Given the description of an element on the screen output the (x, y) to click on. 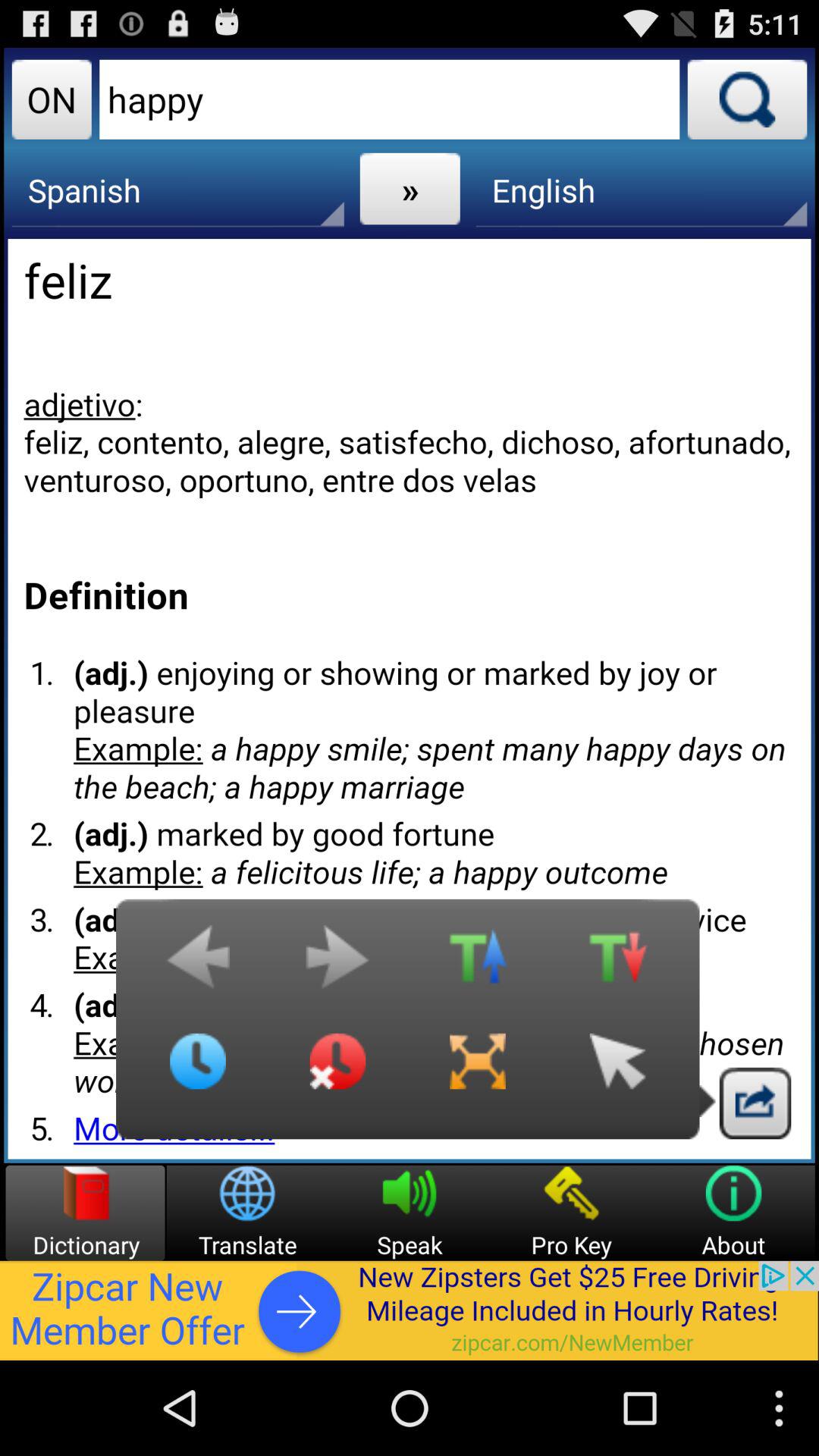
advertisement (409, 1310)
